Given the description of an element on the screen output the (x, y) to click on. 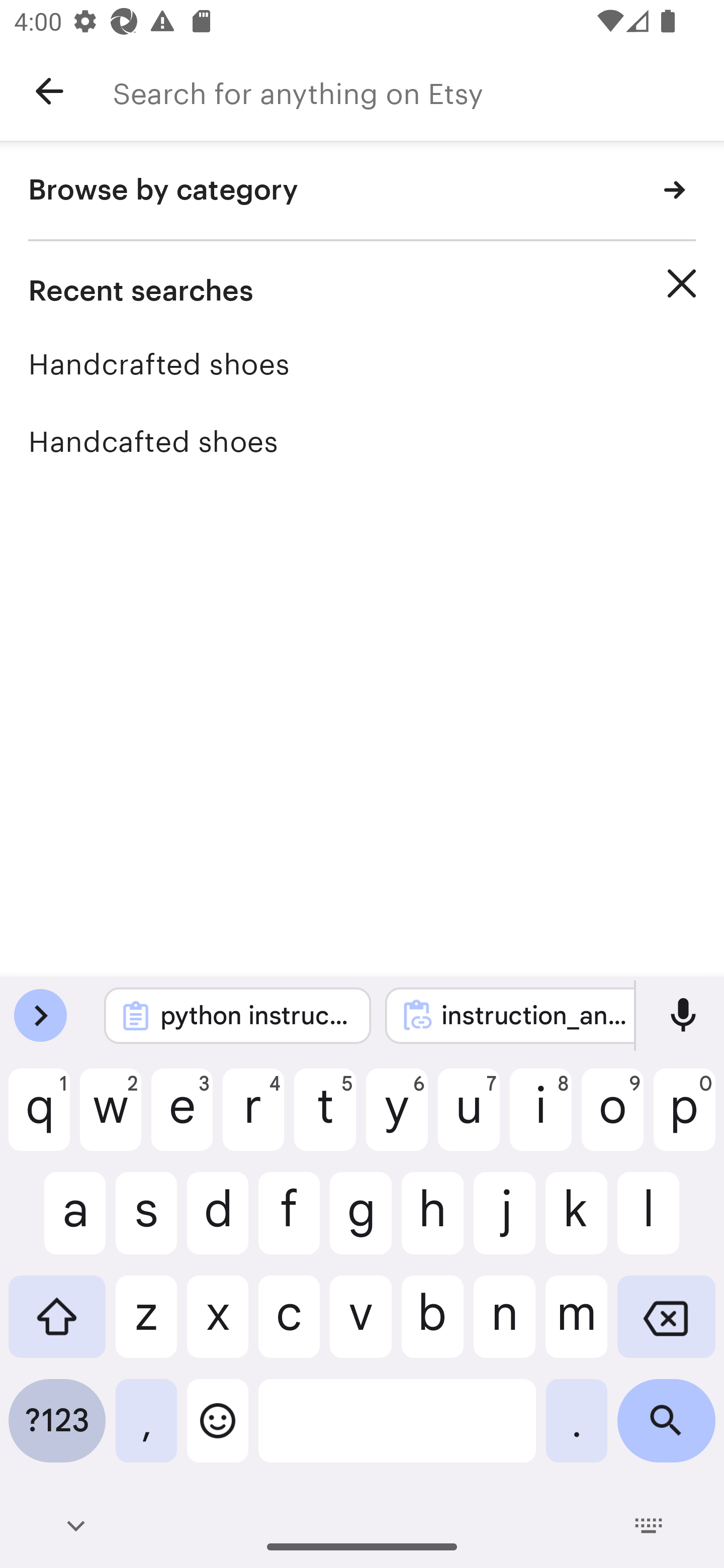
Navigate up (49, 91)
Search for anything on Etsy (418, 91)
Browse by category (362, 191)
Clear (681, 283)
Handcrafted shoes (362, 364)
Handcafted shoes (362, 440)
